Given the description of an element on the screen output the (x, y) to click on. 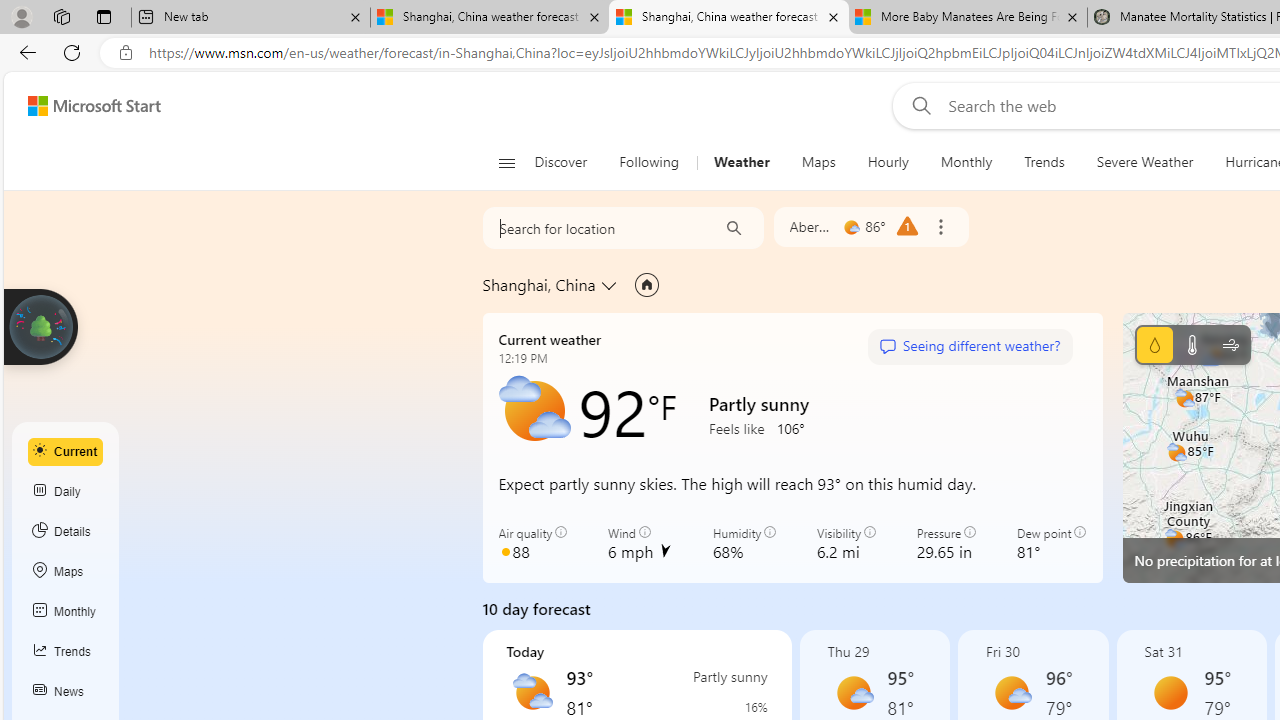
Shanghai, China (539, 284)
Maps (65, 572)
Class: button-glyph (505, 162)
Tab actions menu (104, 16)
Daily (65, 492)
Web search (917, 105)
Shanghai, China weather forecast | Microsoft Weather (729, 17)
Partly sunny (532, 692)
Hourly (888, 162)
Air quality 88 (532, 543)
Join us in planting real trees to help our planet! (40, 325)
Remove location (940, 227)
Open navigation menu (506, 162)
